Given the description of an element on the screen output the (x, y) to click on. 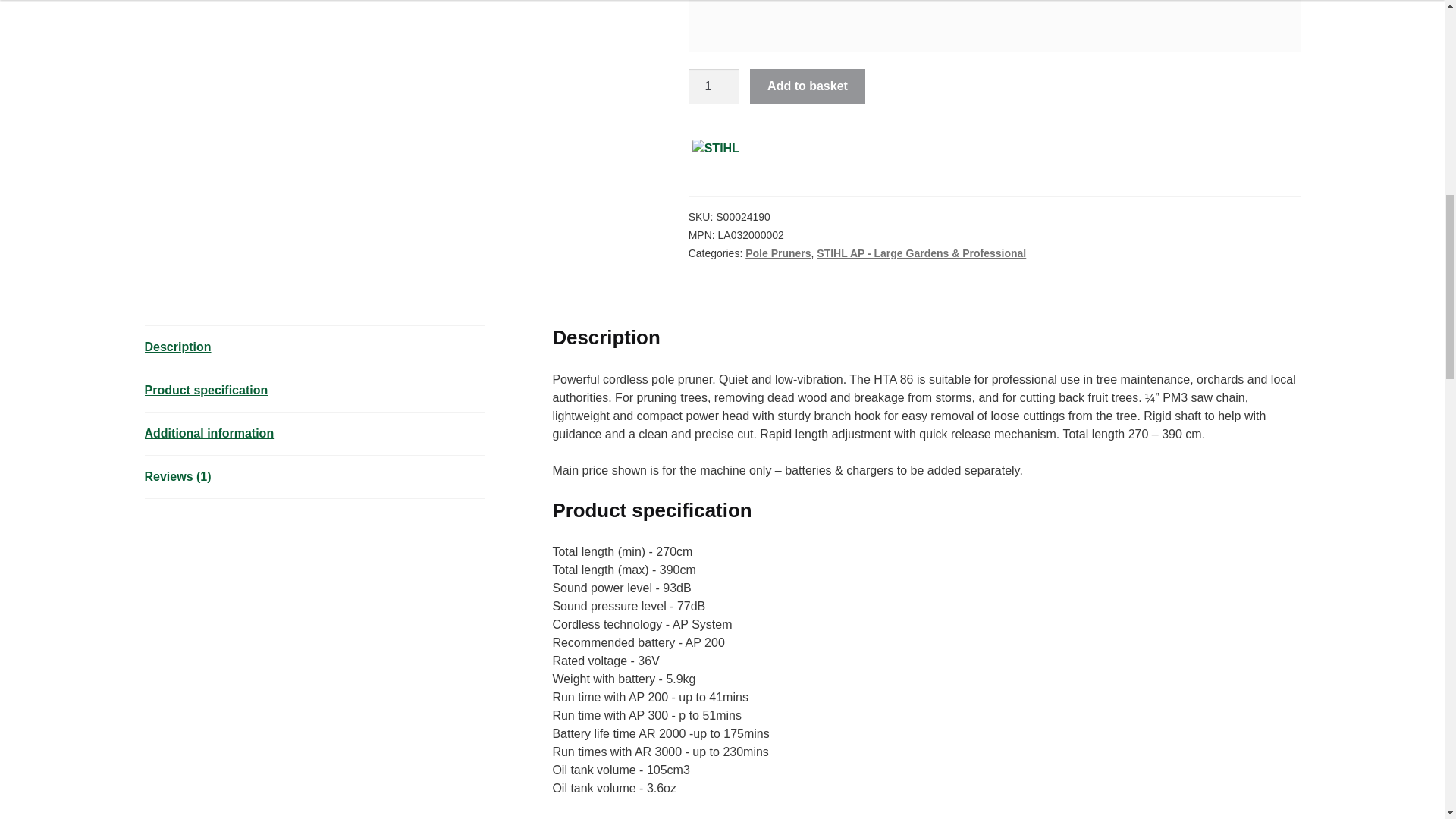
1 (713, 86)
Add to basket (806, 86)
Additional information (313, 433)
Pole Pruners (777, 253)
Description (313, 346)
Product specification (313, 390)
